Given the description of an element on the screen output the (x, y) to click on. 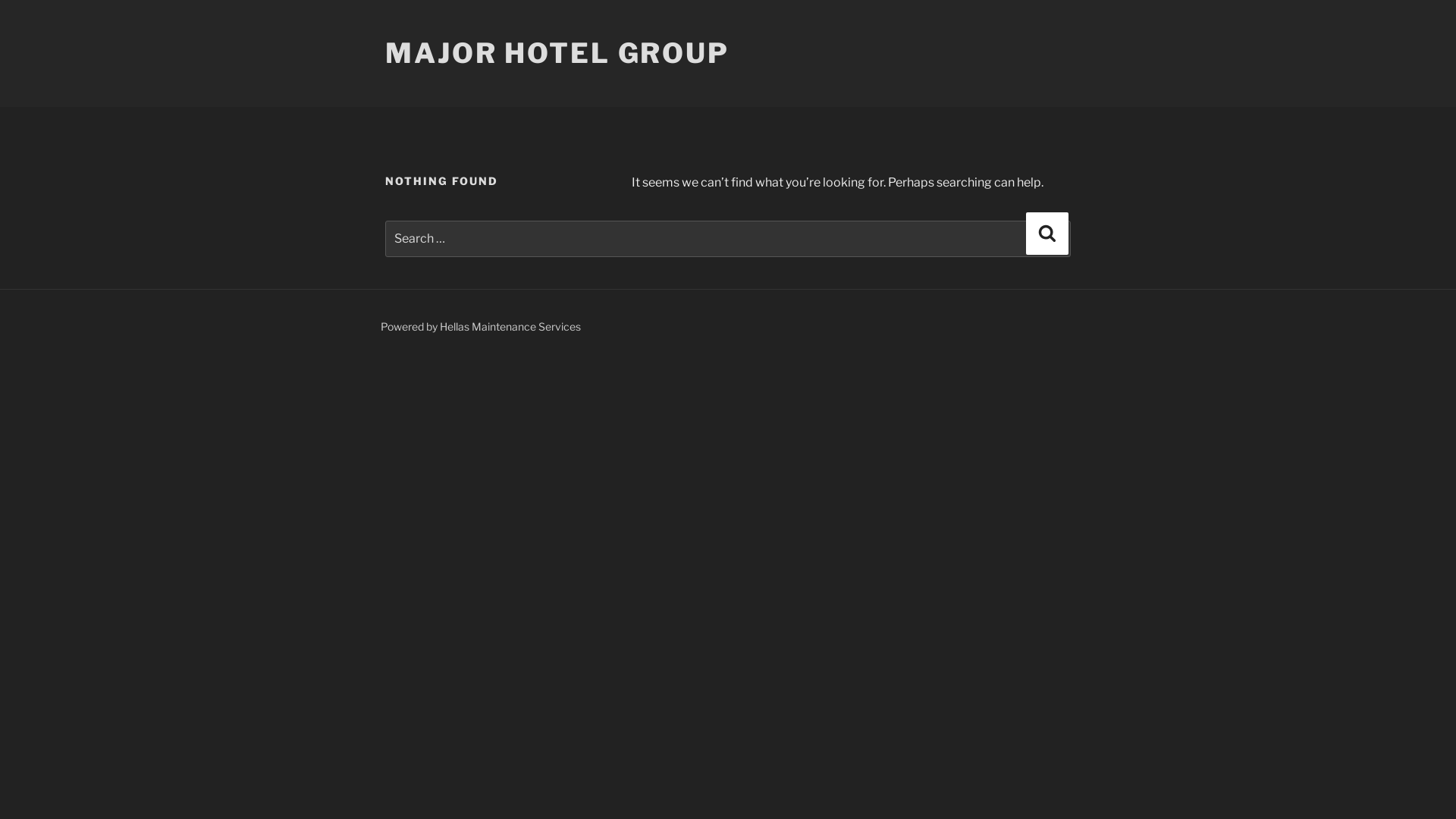
MAJOR HOTEL GROUP Element type: text (557, 52)
Search Element type: text (1047, 233)
Powered by Hellas Maintenance Services Element type: text (480, 326)
